Given the description of an element on the screen output the (x, y) to click on. 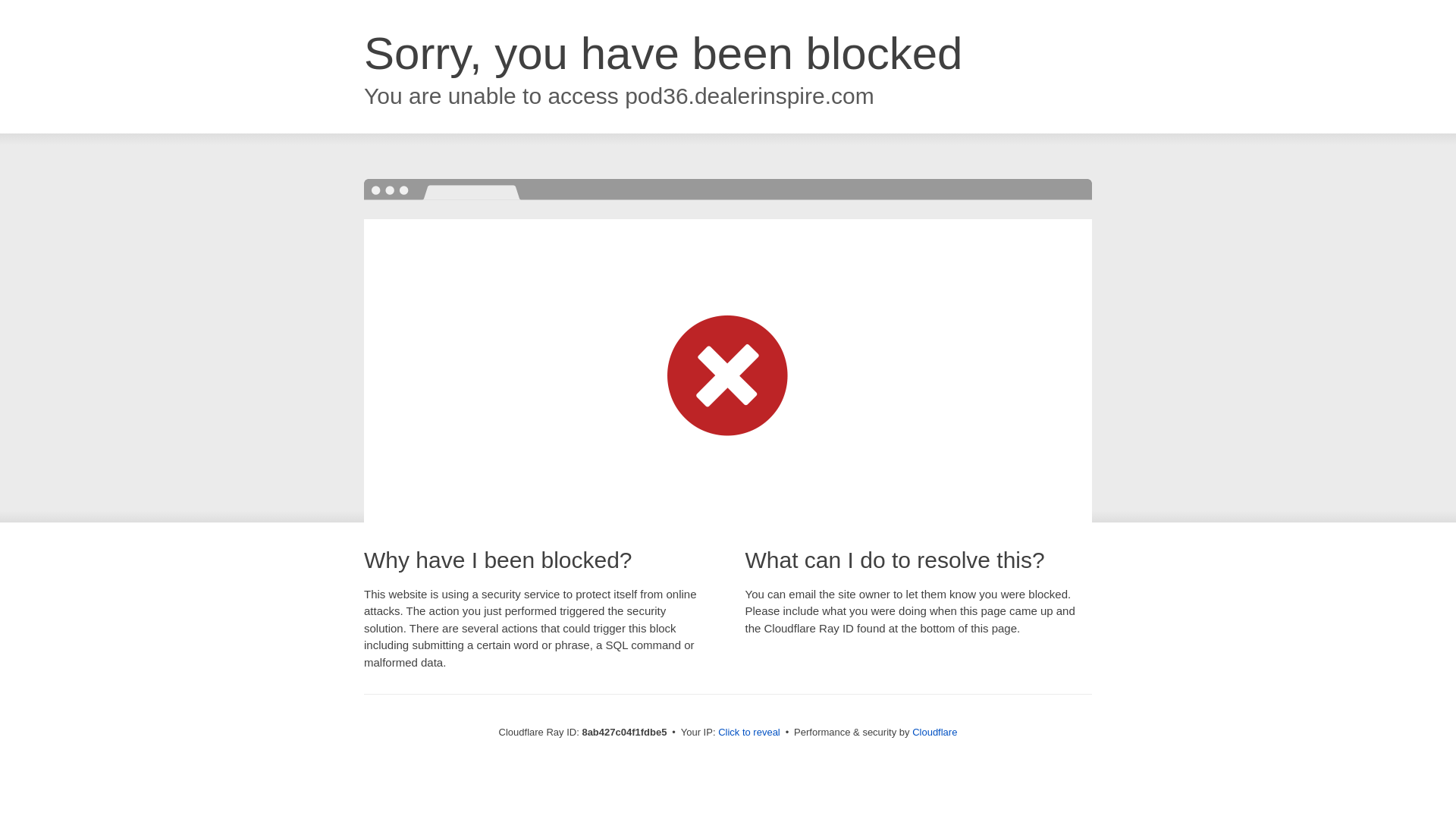
Cloudflare (934, 731)
Click to reveal (748, 732)
